Given the description of an element on the screen output the (x, y) to click on. 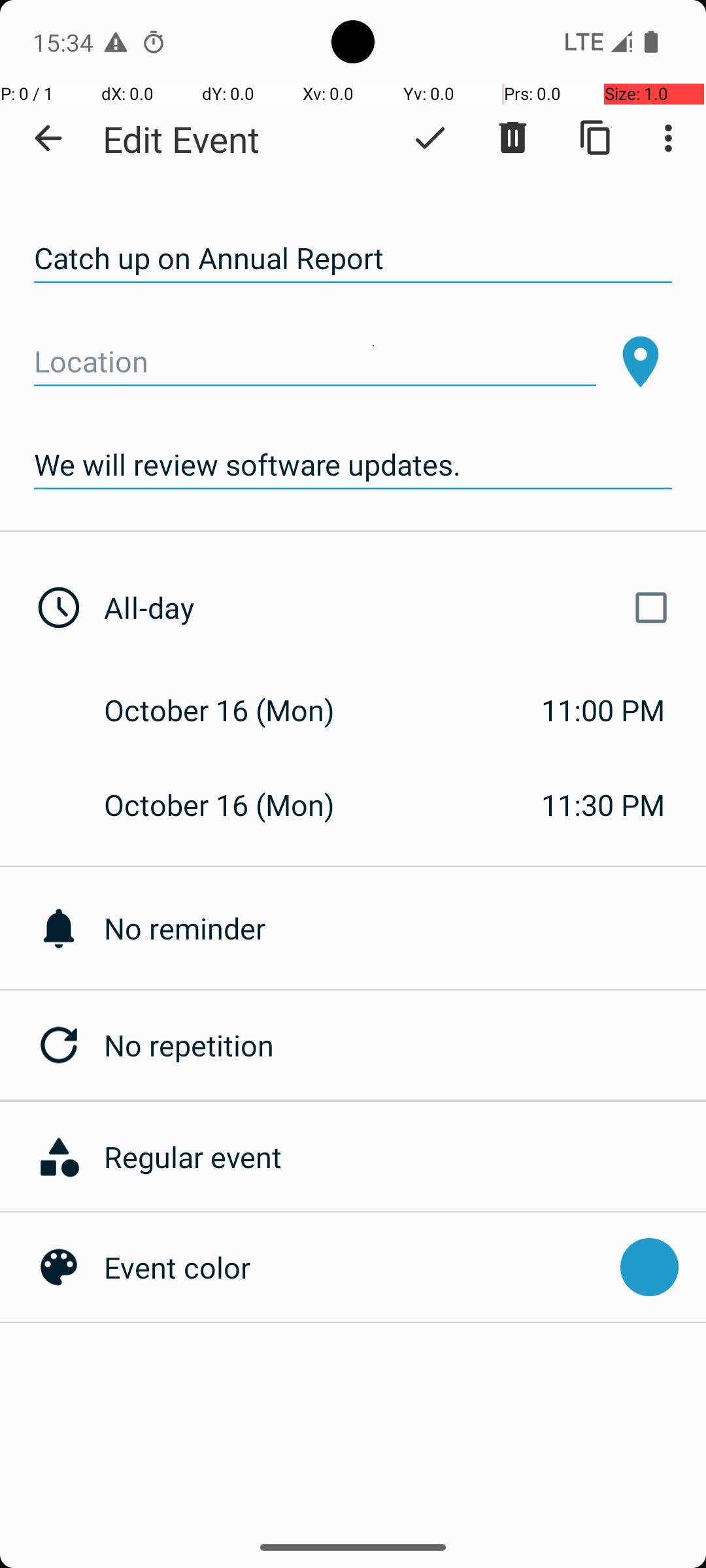
Catch up on Annual Report Element type: android.widget.EditText (352, 258)
We will review software updates. Element type: android.widget.EditText (352, 465)
October 16 (Mon) Element type: android.widget.TextView (232, 709)
11:00 PM Element type: android.widget.TextView (602, 709)
11:30 PM Element type: android.widget.TextView (602, 804)
Event color Element type: android.widget.TextView (354, 1266)
